Given the description of an element on the screen output the (x, y) to click on. 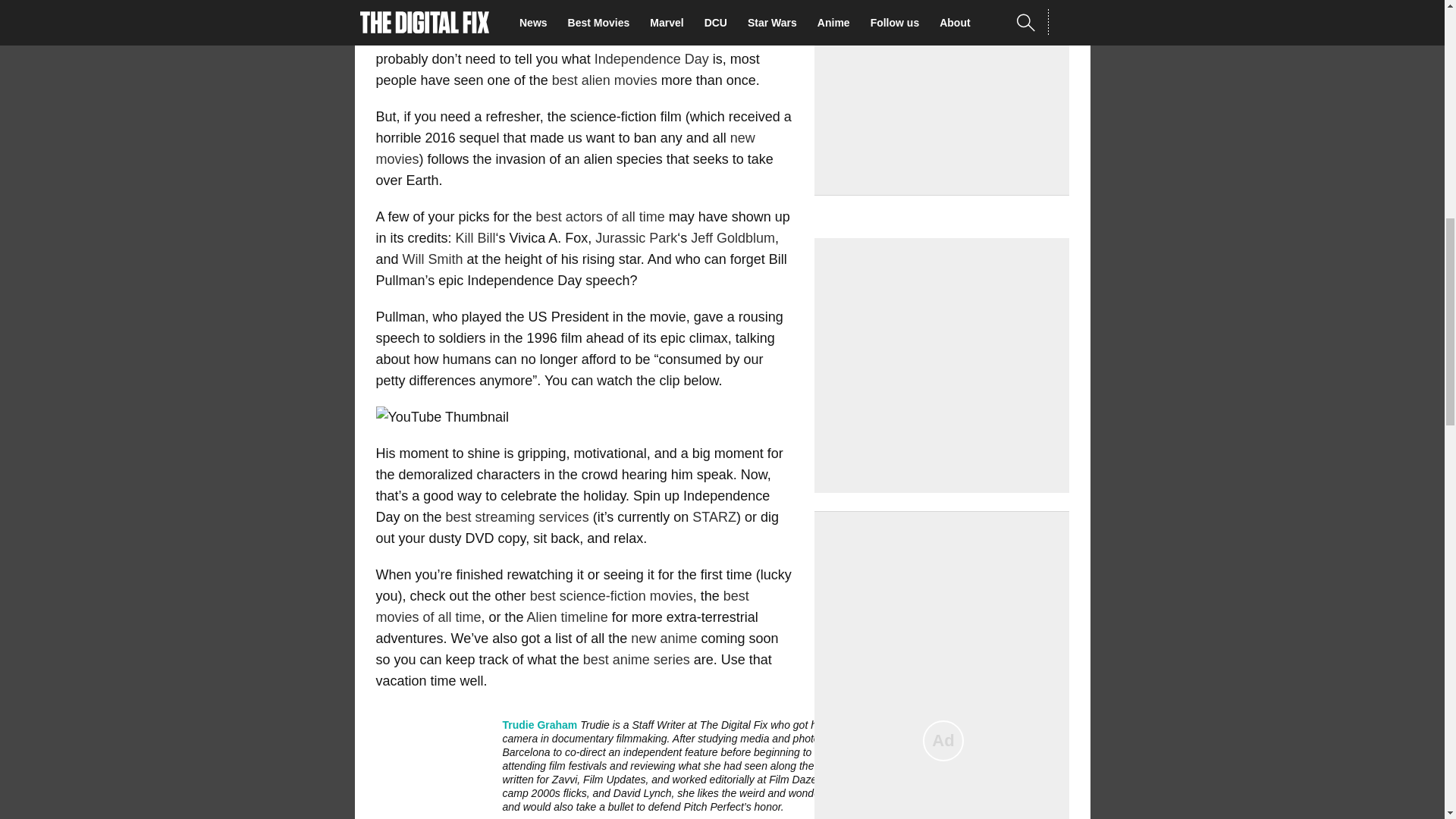
best alien movies (604, 79)
new movies (565, 148)
Jurassic Park (636, 237)
Kill Bill (475, 237)
best actors of all time (600, 216)
Independence Day (651, 58)
